Given the description of an element on the screen output the (x, y) to click on. 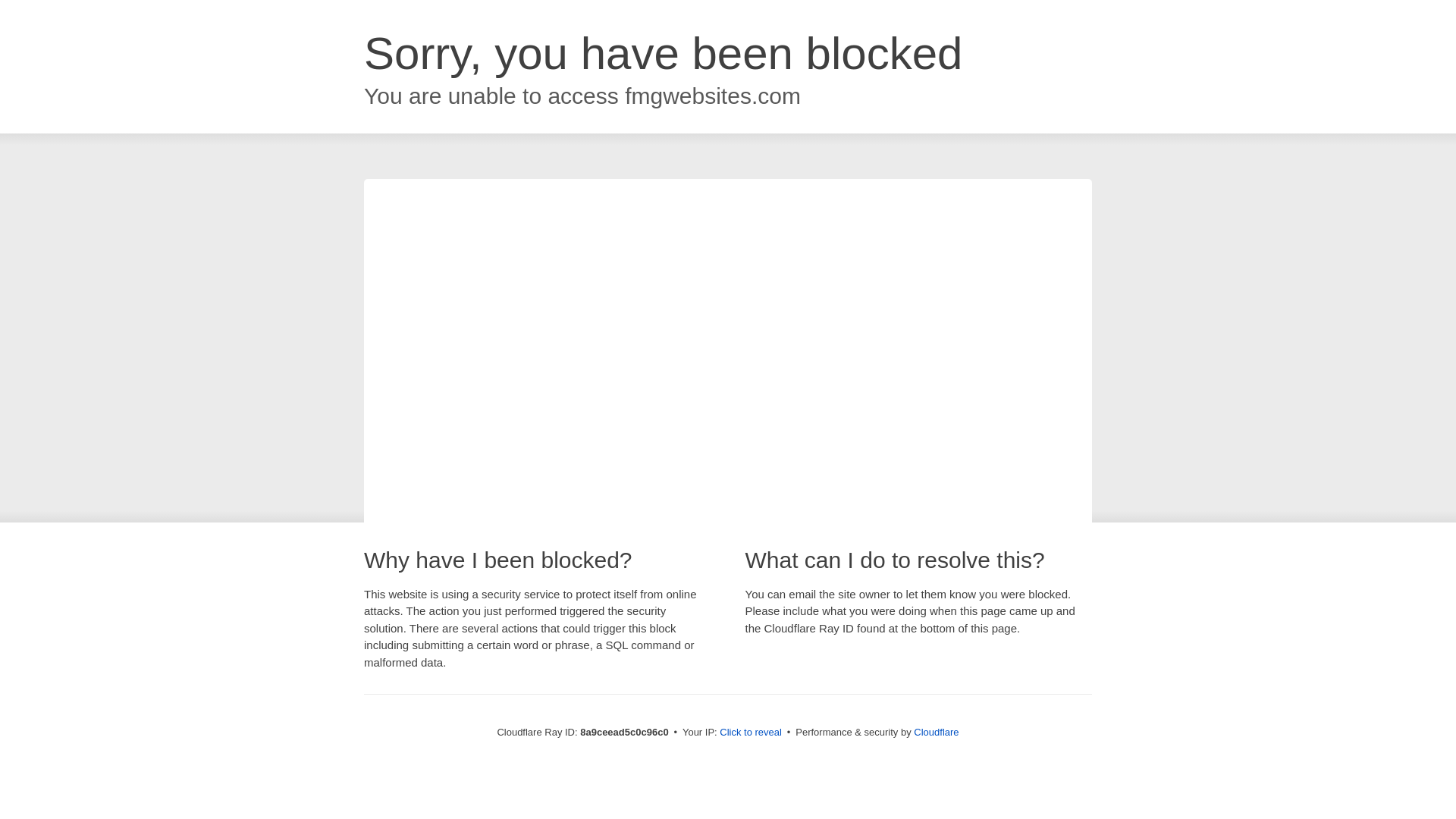
Click to reveal (750, 732)
Cloudflare (936, 731)
